Given the description of an element on the screen output the (x, y) to click on. 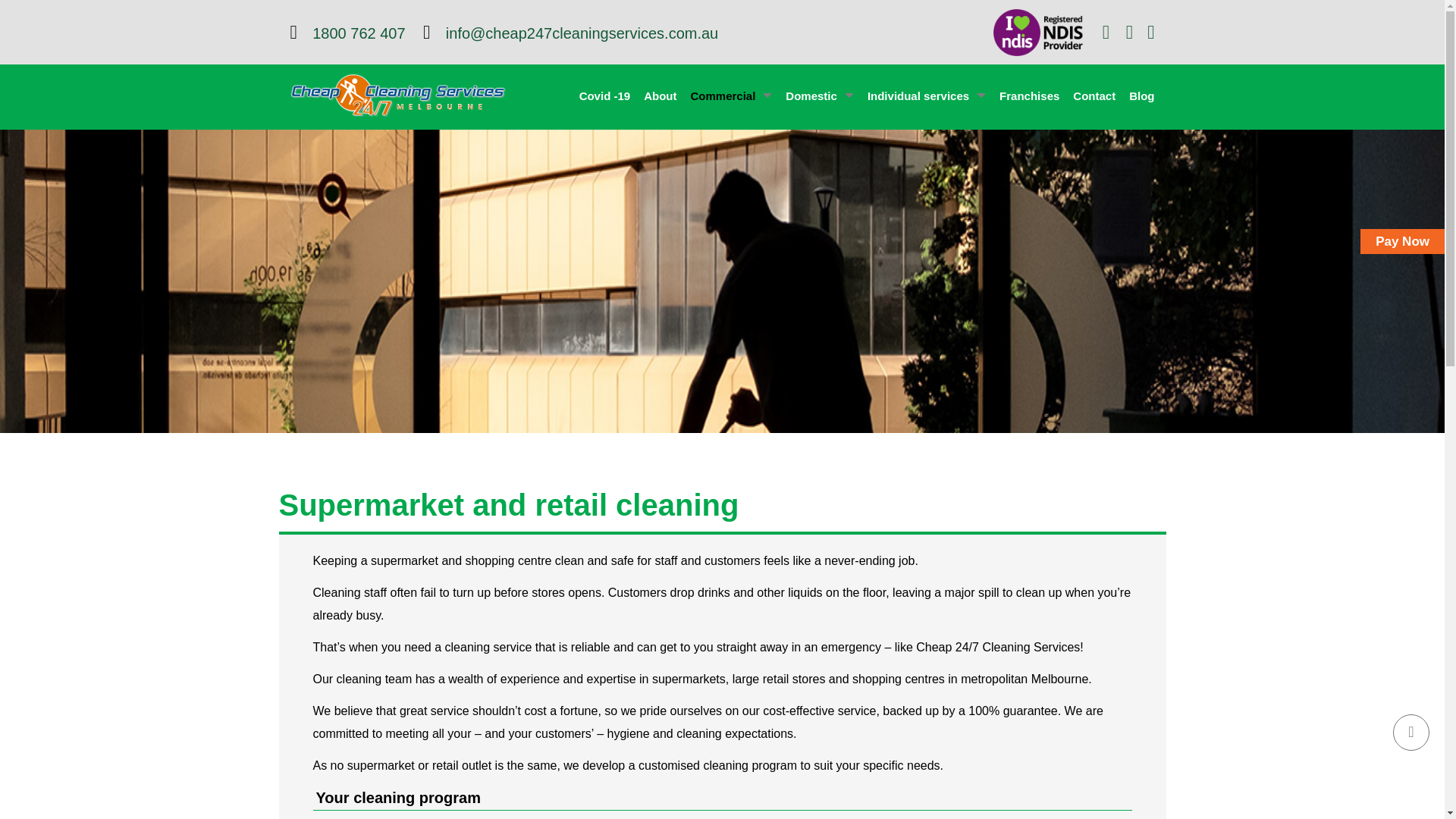
Domestic (819, 95)
Individual services (926, 95)
Back to top (1411, 732)
Covid -19 (604, 95)
1800 762 407 (349, 33)
Franchises (1028, 95)
Contact (1094, 95)
Commercial (730, 95)
